Given the description of an element on the screen output the (x, y) to click on. 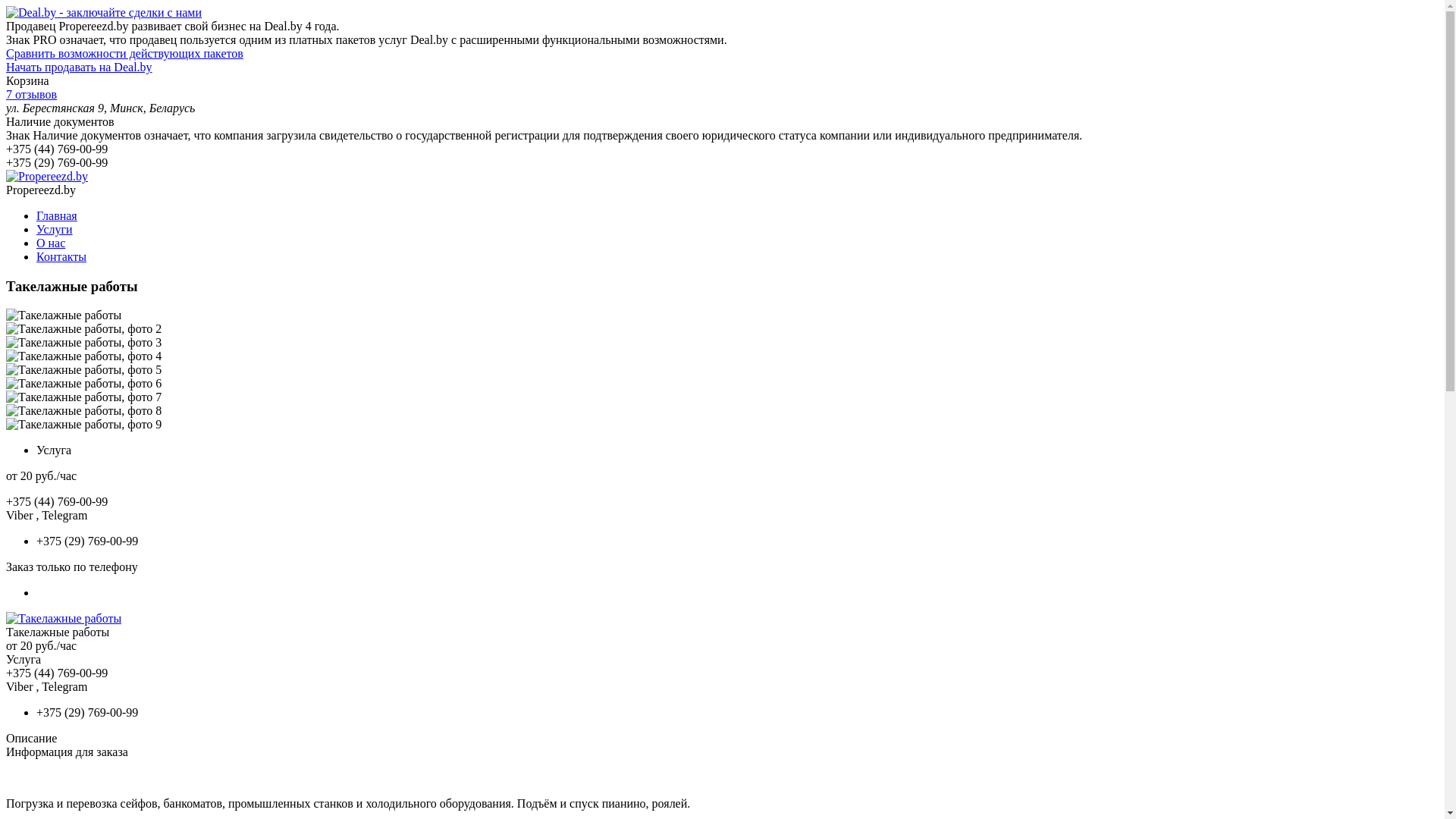
Propereezd.by Element type: hover (46, 175)
